Given the description of an element on the screen output the (x, y) to click on. 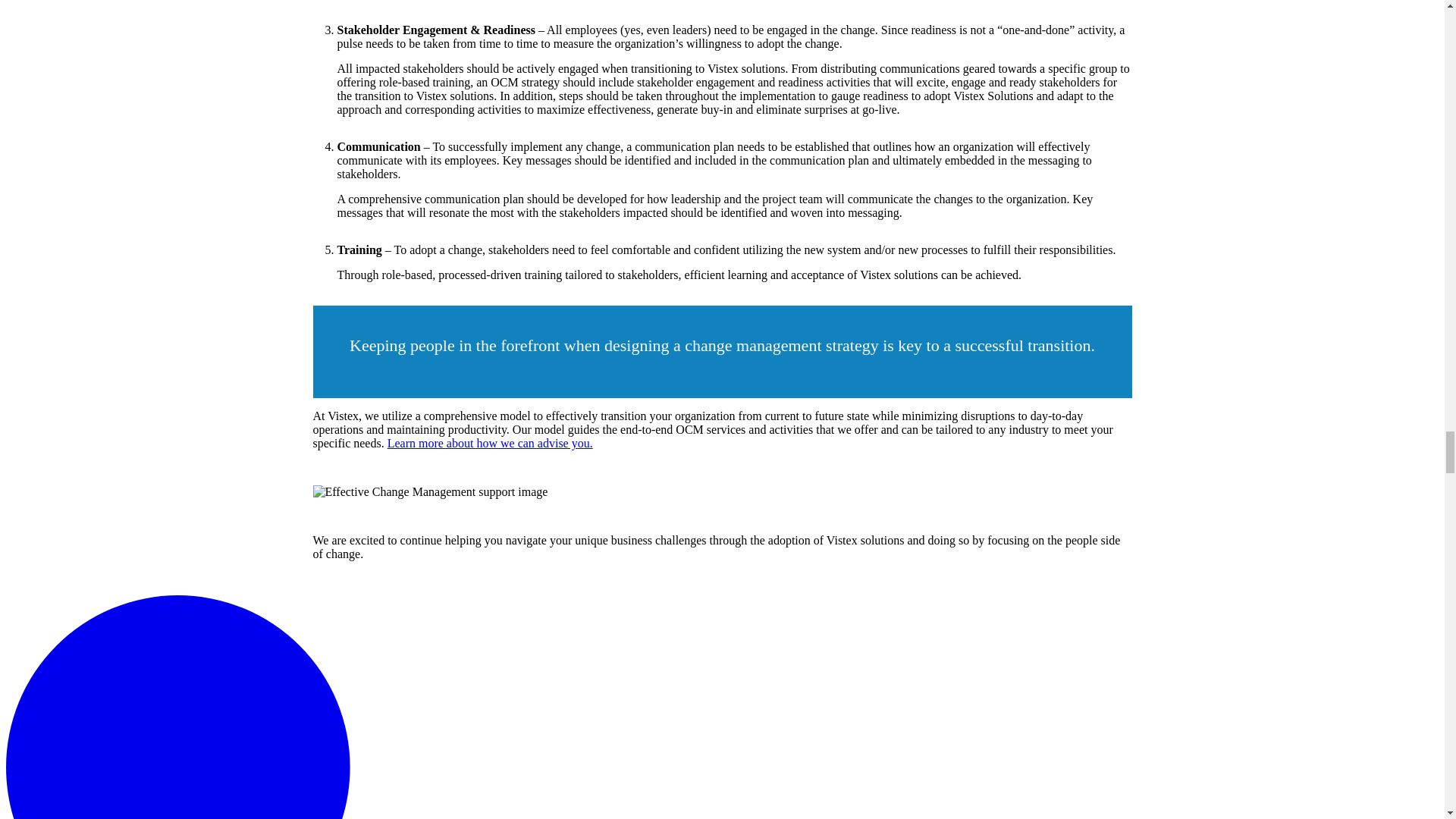
Learn more about how we can advise you. (489, 442)
